Given the description of an element on the screen output the (x, y) to click on. 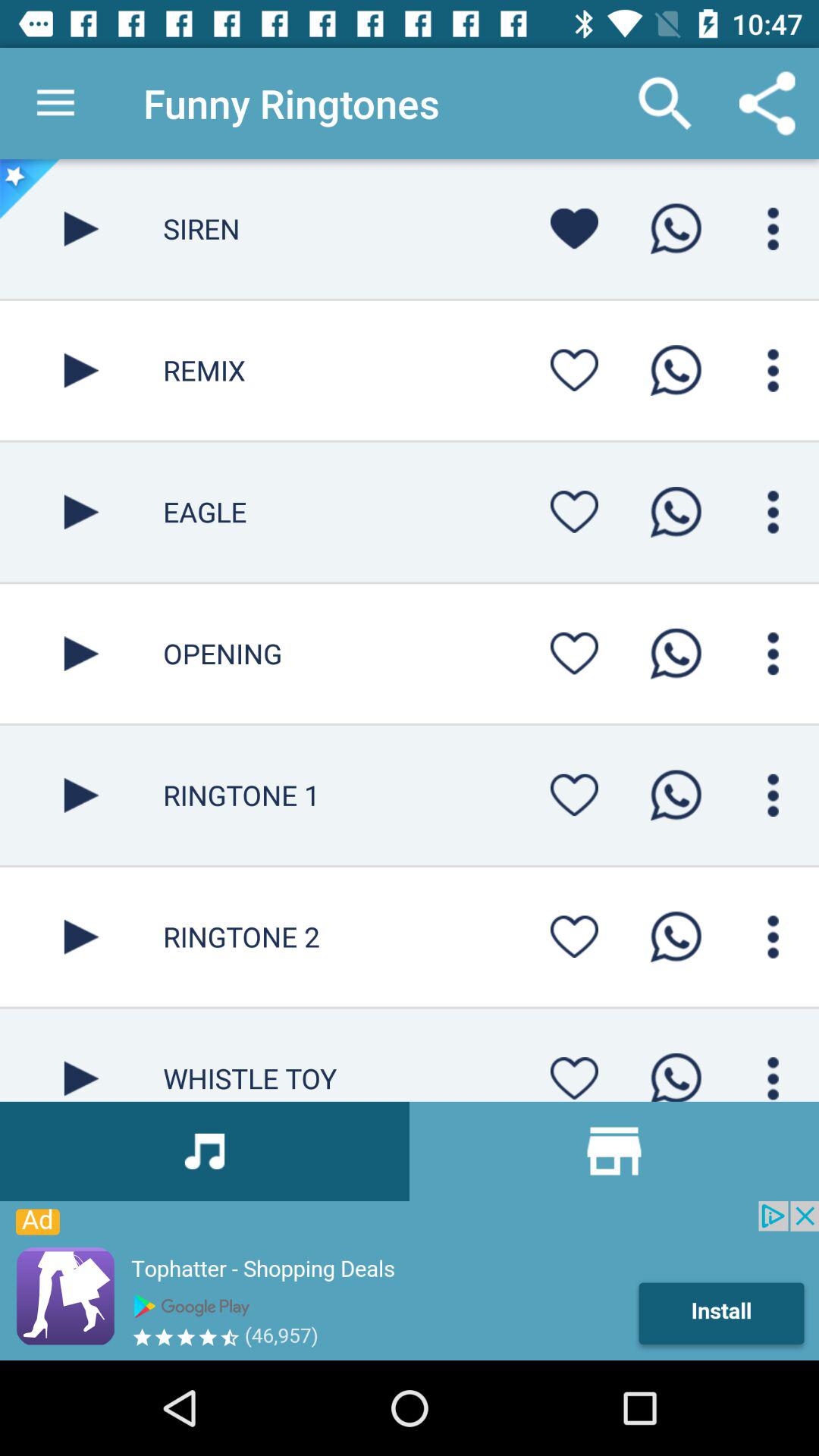
play ringtone (81, 653)
